Given the description of an element on the screen output the (x, y) to click on. 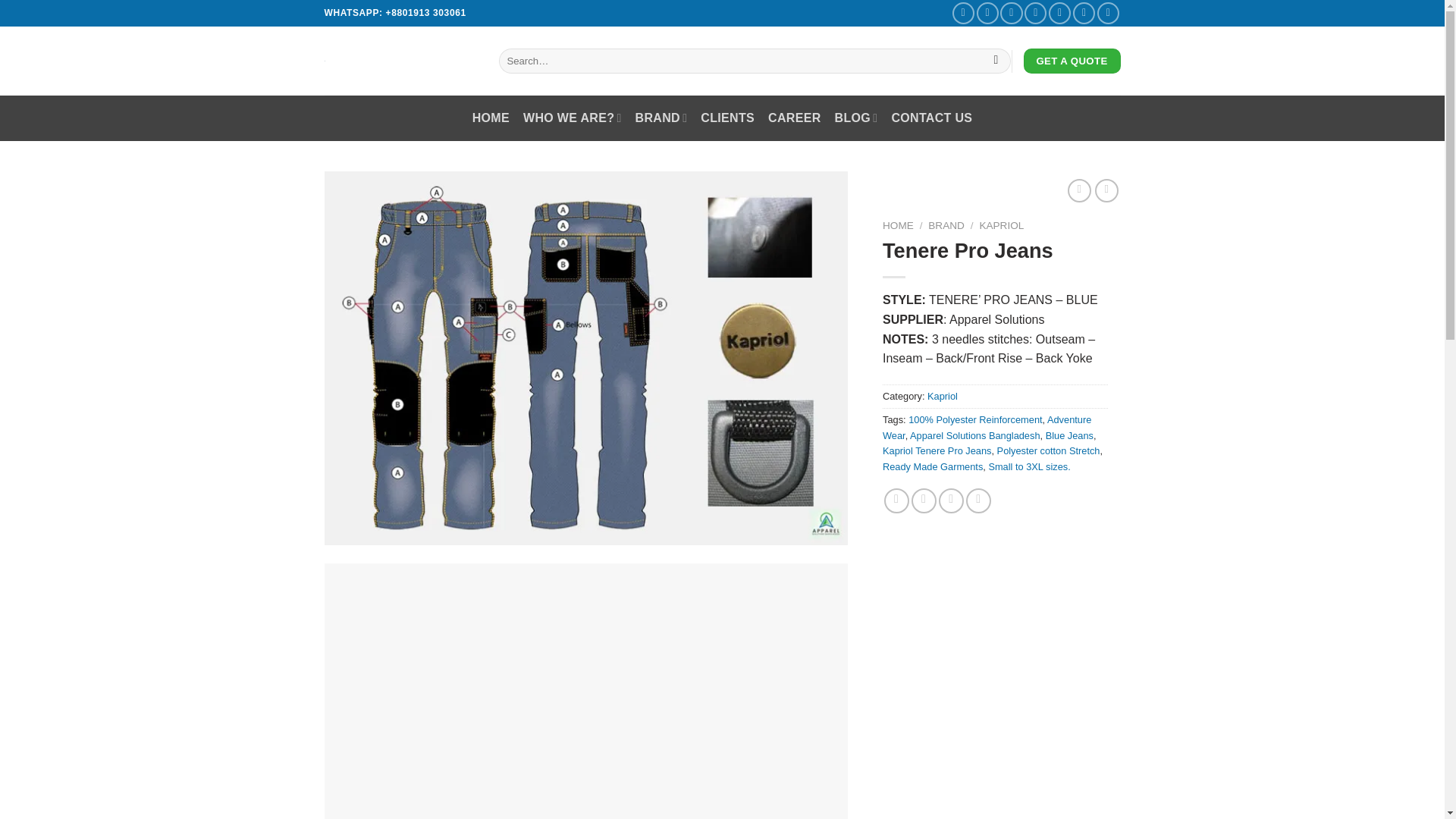
CAREER (794, 117)
Share on X (923, 500)
GET A QUOTE (1072, 61)
Follow on Pinterest (1083, 13)
CLIENTS (727, 117)
Follow on LinkedIn (1108, 13)
Follow on Instagram (987, 13)
Pin on Pinterest (951, 500)
BRAND (660, 117)
Send us an email (1035, 13)
